Given the description of an element on the screen output the (x, y) to click on. 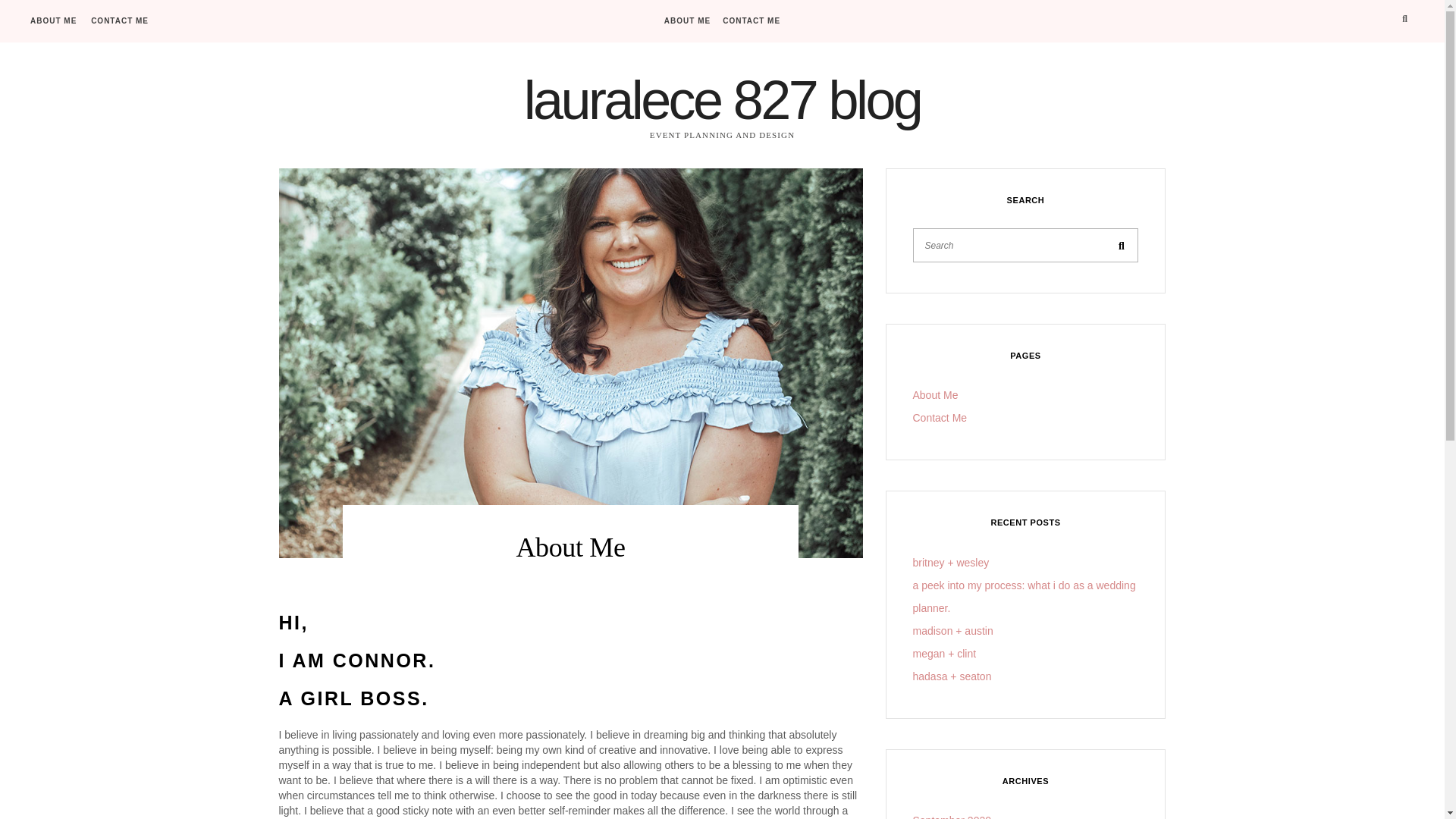
ABOUT ME (686, 20)
CONTACT ME (751, 20)
Contact Me (940, 417)
CONTACT ME (119, 17)
a peek into my process: what i do as a wedding planner. (1023, 596)
lauralece 827 blog (722, 99)
Search (1120, 245)
About Me (935, 395)
ABOUT ME (53, 17)
September 2020 (951, 816)
